Given the description of an element on the screen output the (x, y) to click on. 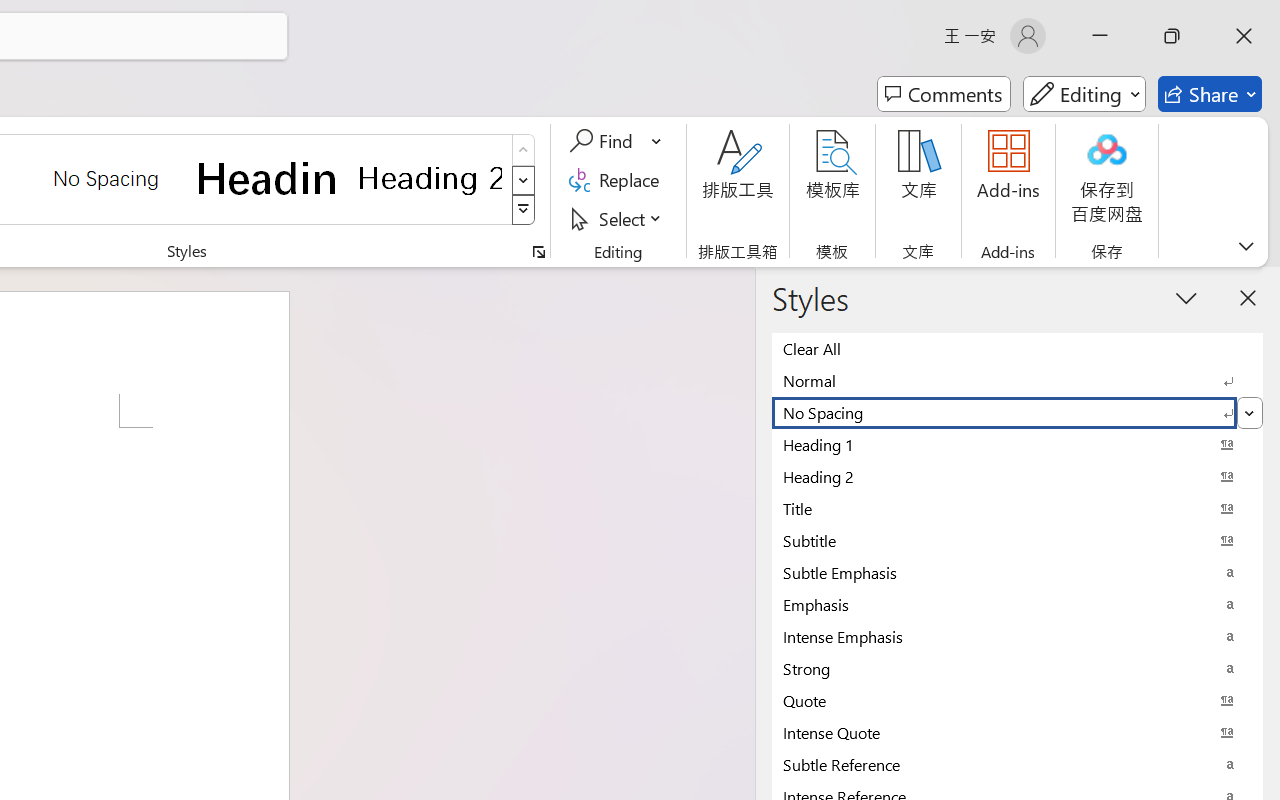
Normal (1017, 380)
Replace... (617, 179)
Styles (523, 209)
Styles... (538, 252)
Title (1017, 508)
Quote (1017, 700)
Heading 1 (267, 178)
Intense Quote (1017, 732)
Subtle Emphasis (1017, 572)
